Given the description of an element on the screen output the (x, y) to click on. 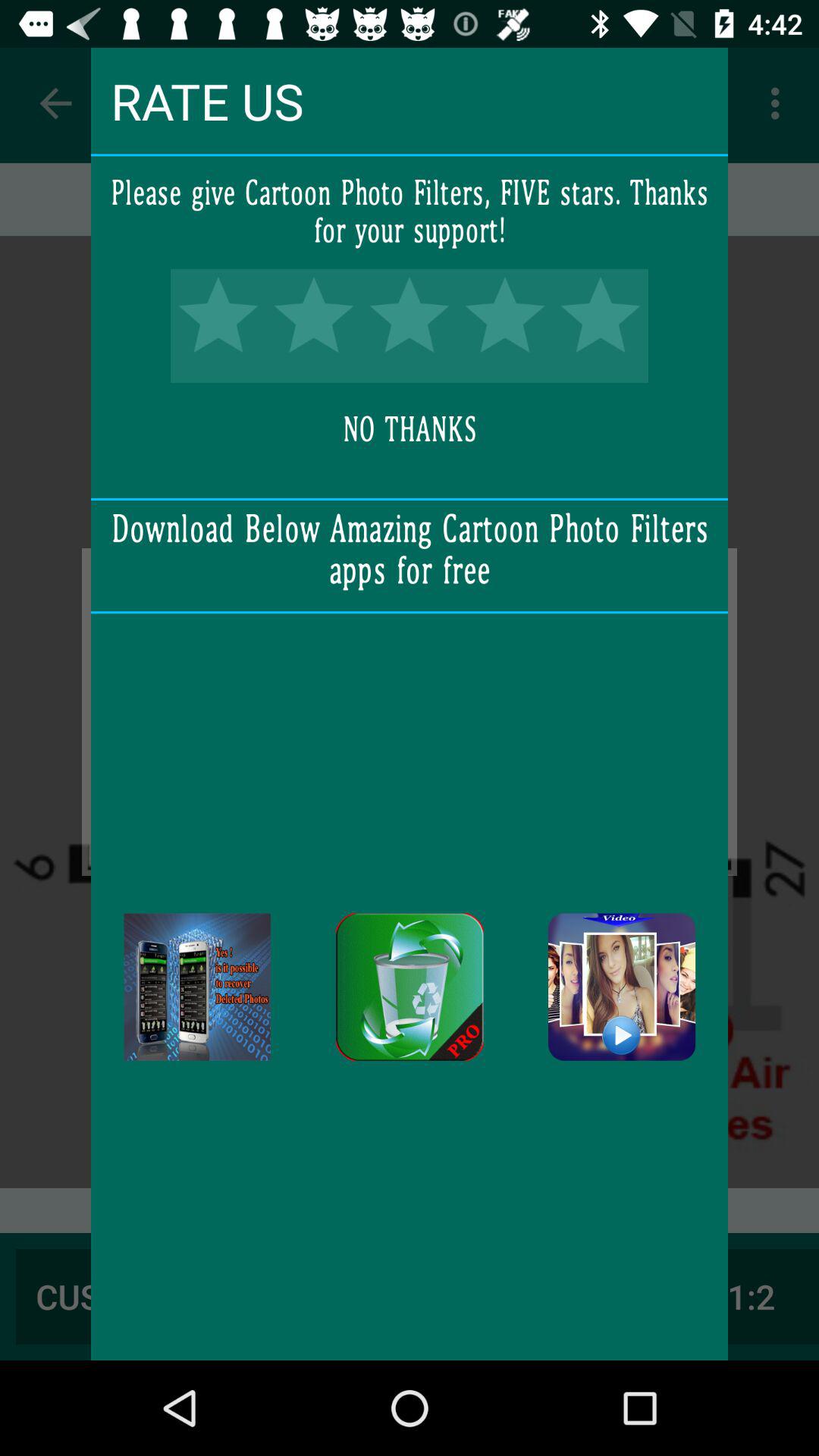
press the no thanks (409, 430)
